Given the description of an element on the screen output the (x, y) to click on. 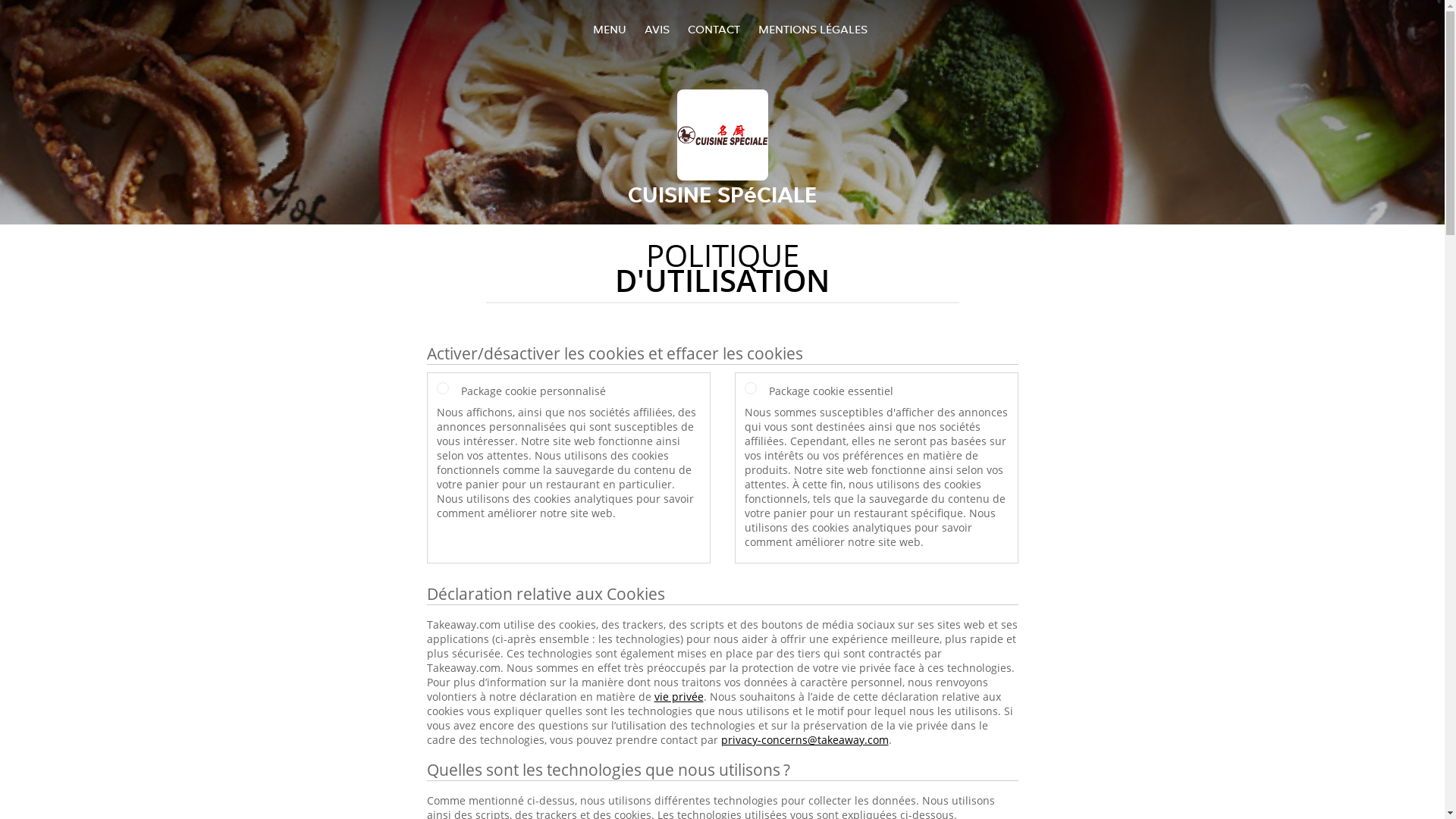
AVIS Element type: text (656, 29)
MENU Element type: text (609, 29)
privacy-concerns@takeaway.com Element type: text (804, 739)
CONTACT Element type: text (713, 29)
